Given the description of an element on the screen output the (x, y) to click on. 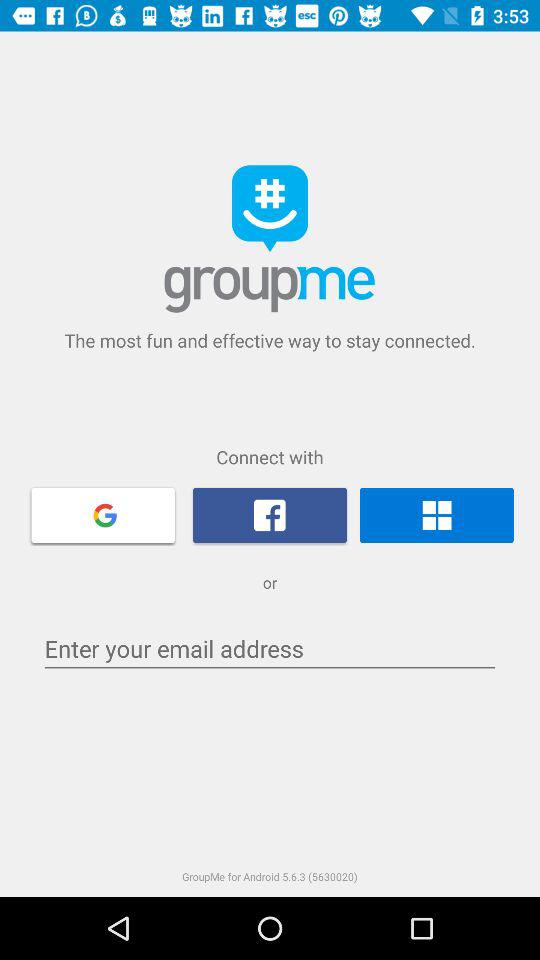
turn off item above the or icon (269, 515)
